Given the description of an element on the screen output the (x, y) to click on. 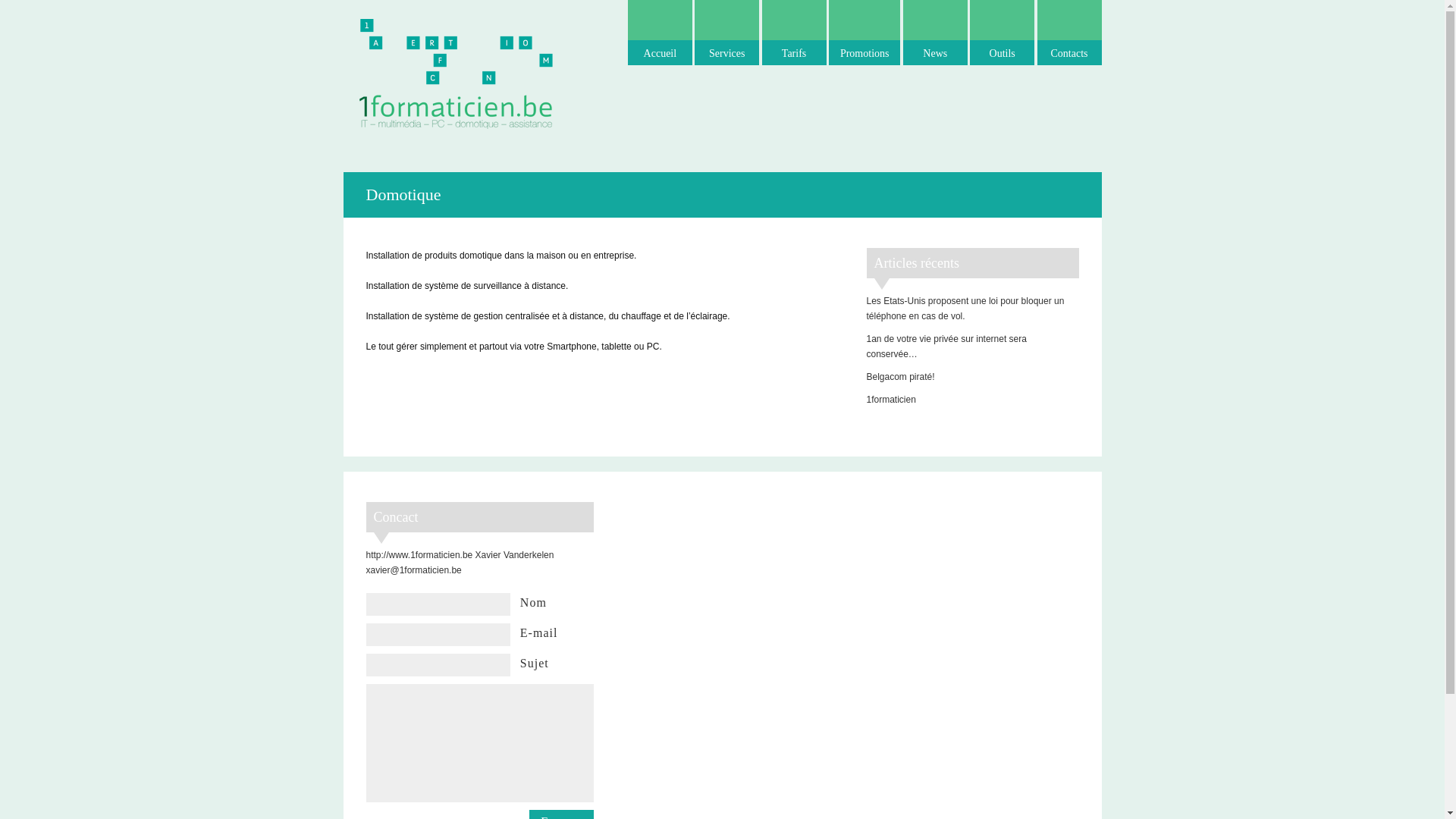
Contacts Element type: text (1069, 32)
1Formaticien Element type: hover (456, 71)
Accueil Element type: text (659, 32)
Outils Element type: text (1001, 32)
1formaticien Element type: text (890, 399)
Tarifs Element type: text (794, 32)
Promotions Element type: text (864, 32)
News Element type: text (935, 32)
Services Element type: text (726, 32)
